Given the description of an element on the screen output the (x, y) to click on. 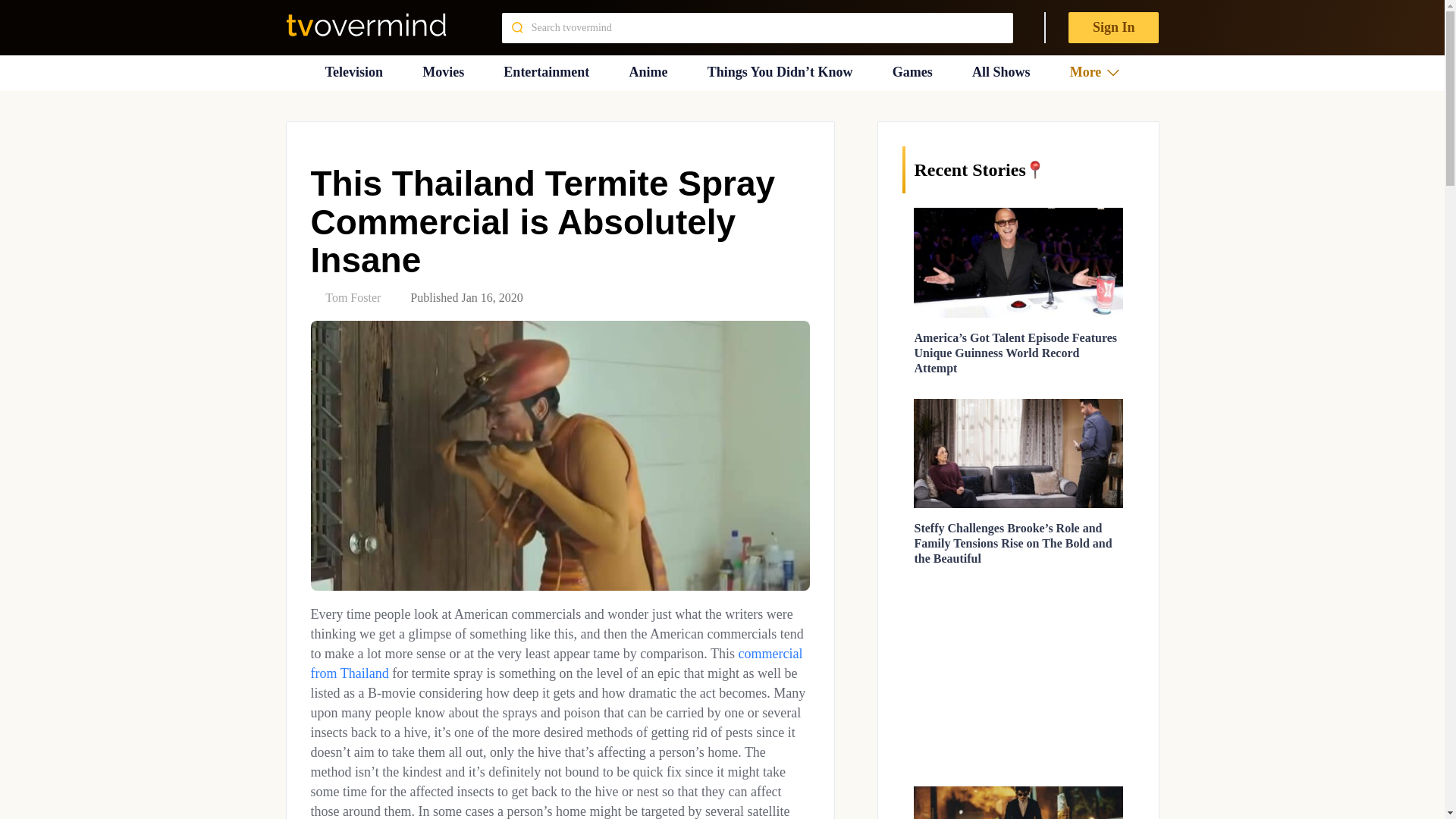
Anime (648, 72)
Sign In (1113, 27)
Television (353, 72)
Entertainment (546, 72)
TV News (353, 72)
More (1094, 72)
Games (912, 72)
Posts by Tom Foster (352, 297)
All Shows (1001, 72)
Movies (443, 72)
